Given the description of an element on the screen output the (x, y) to click on. 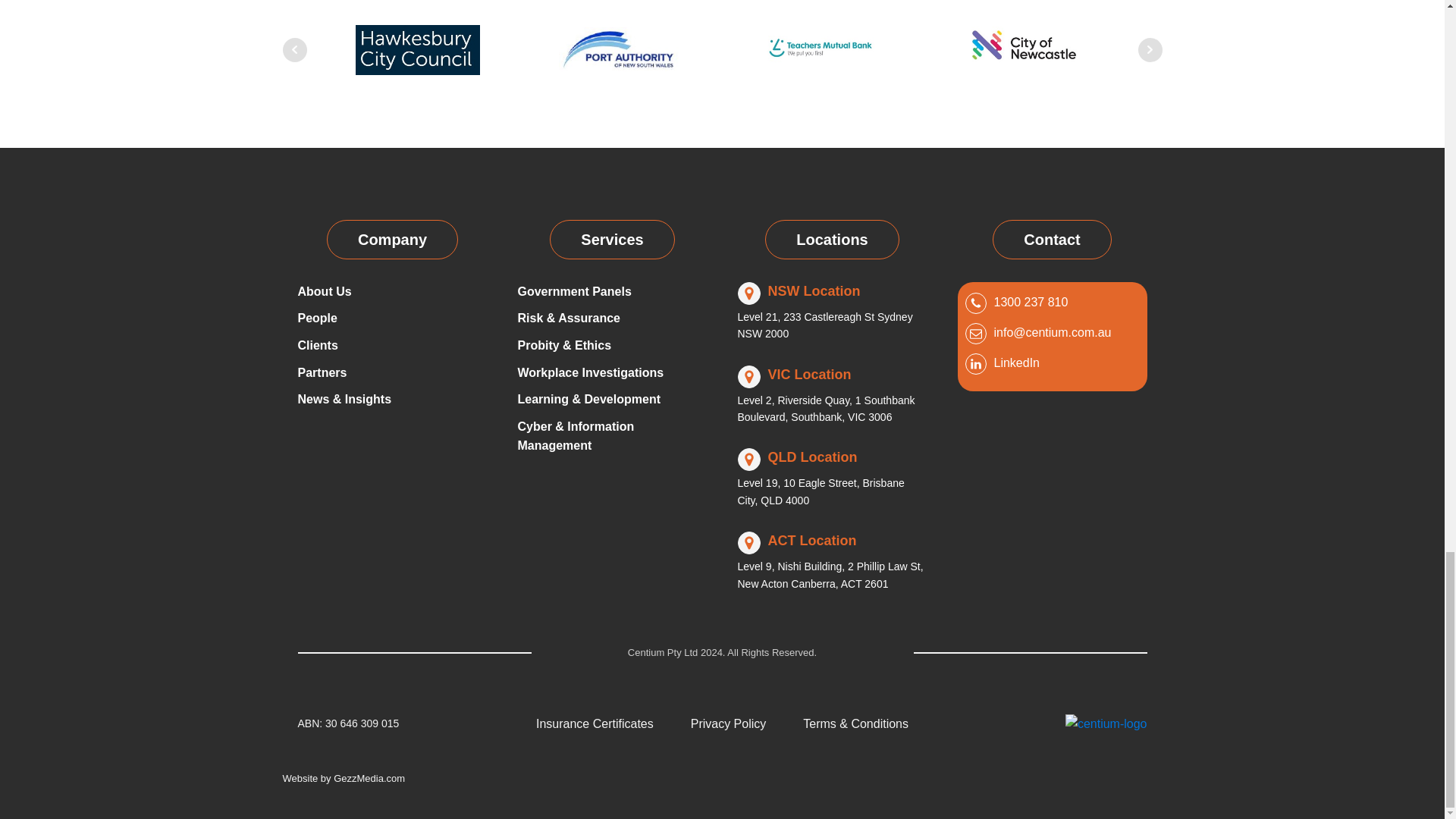
Clients (317, 345)
Company (392, 239)
Prev (293, 49)
Next (1149, 49)
About Us (323, 291)
People (316, 318)
Government Panels (573, 291)
Services (612, 239)
Partners (321, 373)
